Given the description of an element on the screen output the (x, y) to click on. 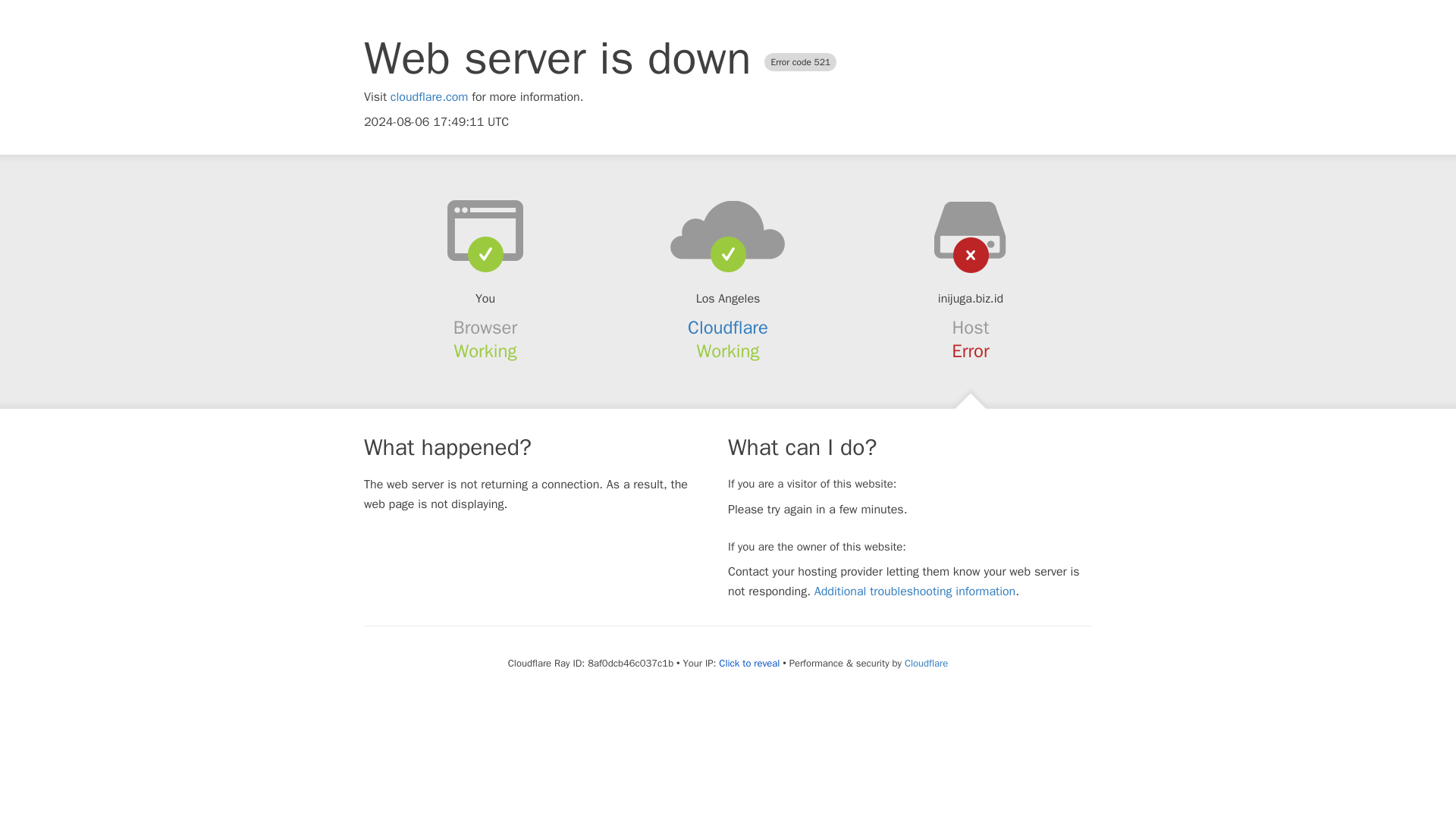
Additional troubleshooting information (913, 590)
Cloudflare (925, 662)
Click to reveal (748, 663)
Cloudflare (727, 327)
cloudflare.com (429, 96)
